Given the description of an element on the screen output the (x, y) to click on. 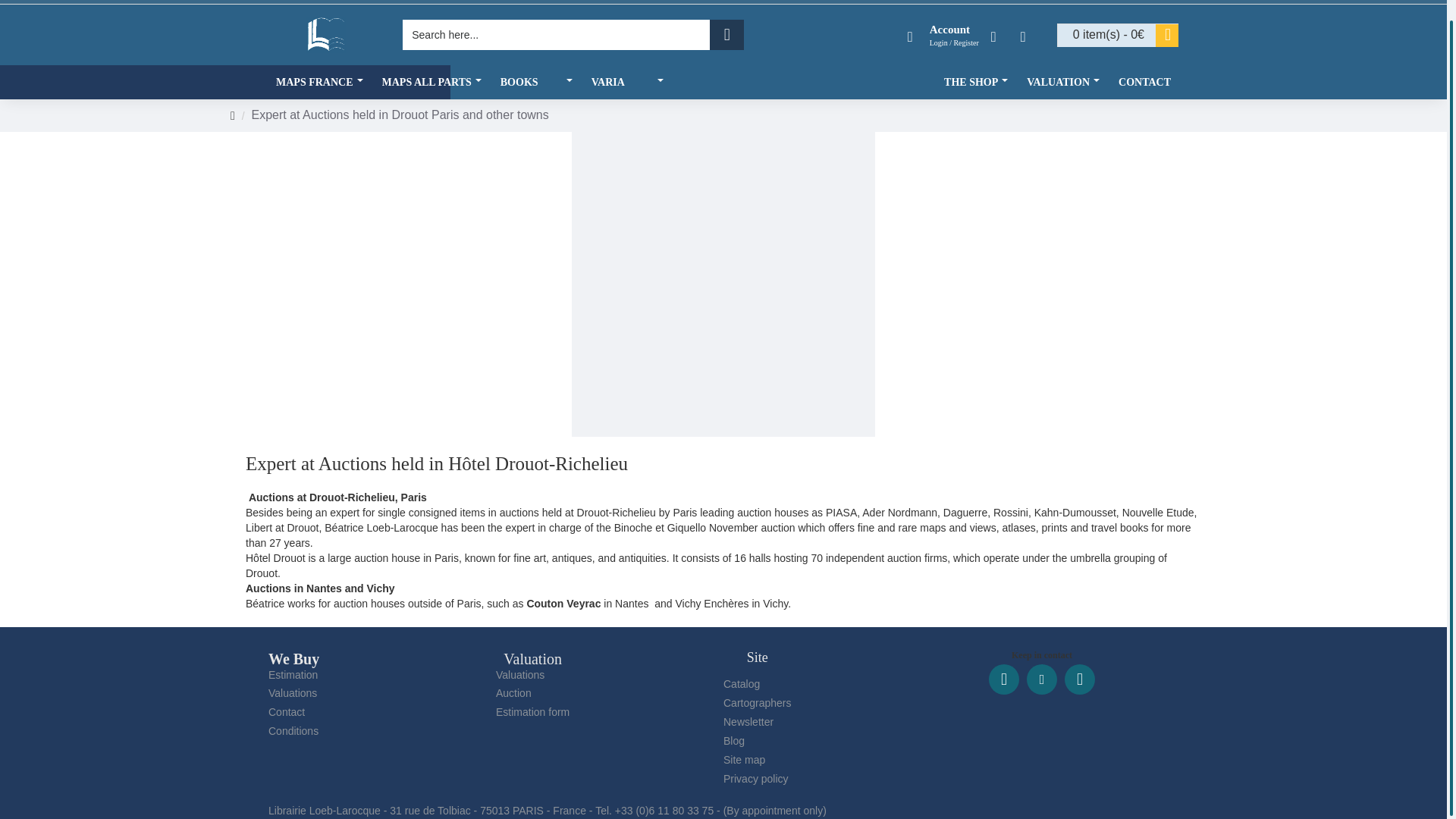
Librairie Loeb-Larocque (325, 34)
THE SHOP (977, 81)
BOOKS (538, 81)
VALUATION (1064, 81)
VARIA (629, 81)
MAPS FRANCE (320, 81)
Librairie Loeb-Larocque - Paris (345, 2)
CONTACT (1143, 81)
MAPS ALL PARTS (433, 81)
View Cart (1117, 35)
